Given the description of an element on the screen output the (x, y) to click on. 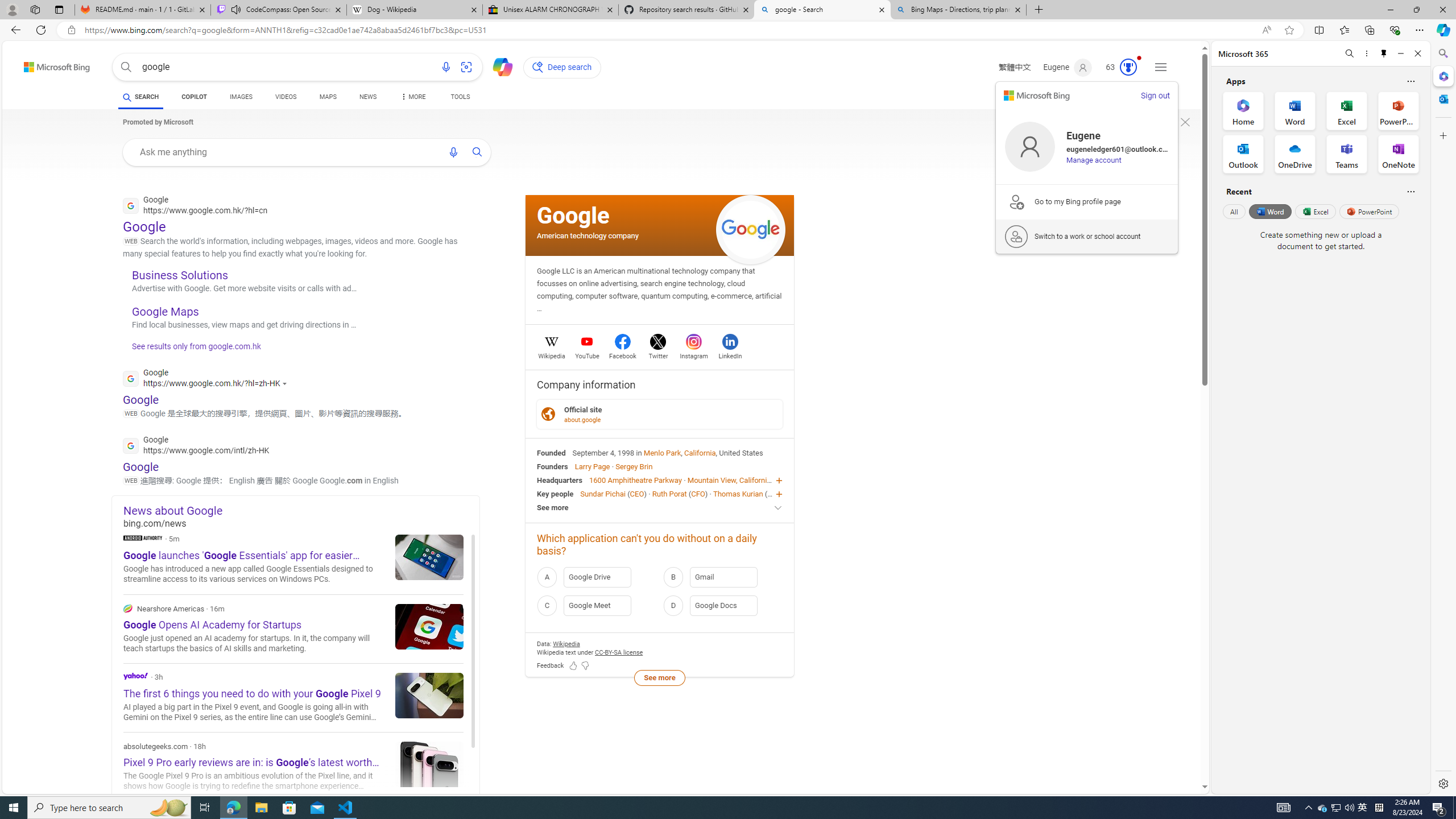
Word Office App (1295, 110)
Yahoo (293, 697)
AutomationID: mfa_root (1161, 752)
AutomationID: serp_medal_svg (1128, 67)
Word (1269, 210)
MAPS (327, 98)
To get missing image descriptions, open the context menu. (1184, 121)
Dropdown Menu (412, 96)
California (700, 452)
See more (659, 677)
Menlo Park (662, 452)
